Given the description of an element on the screen output the (x, y) to click on. 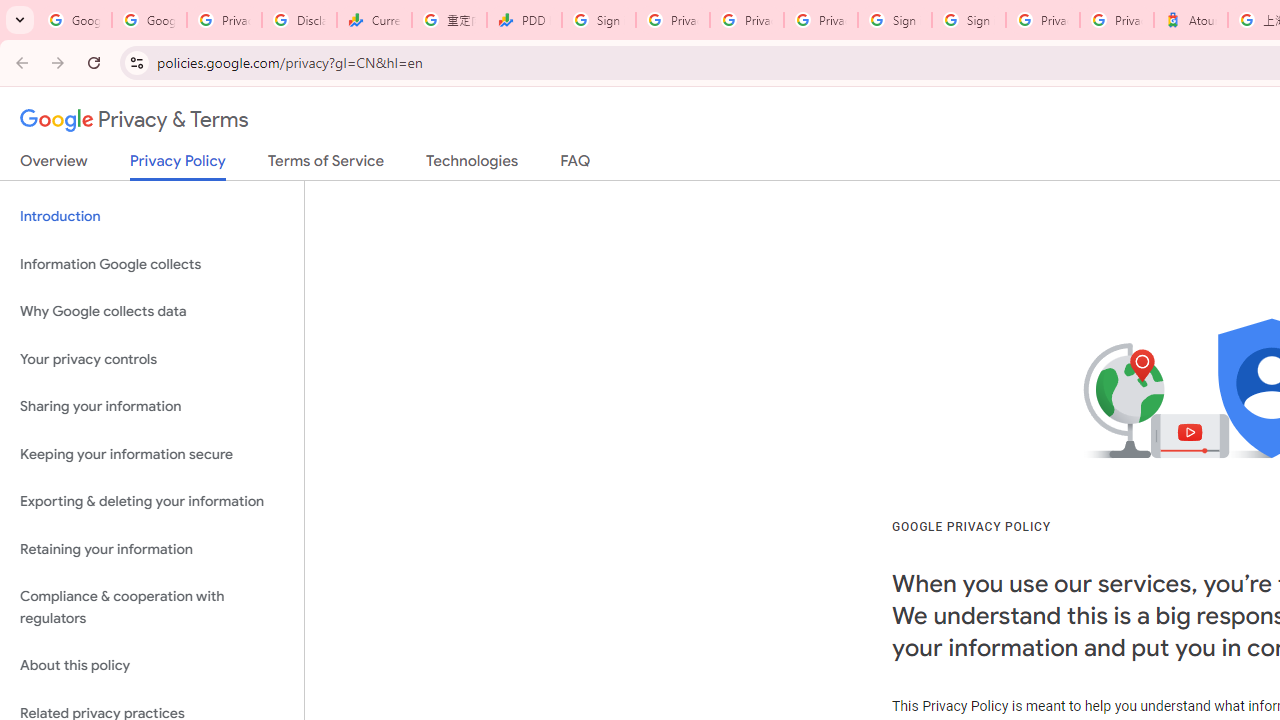
Retaining your information (152, 548)
Your privacy controls (152, 358)
Why Google collects data (152, 312)
